Given the description of an element on the screen output the (x, y) to click on. 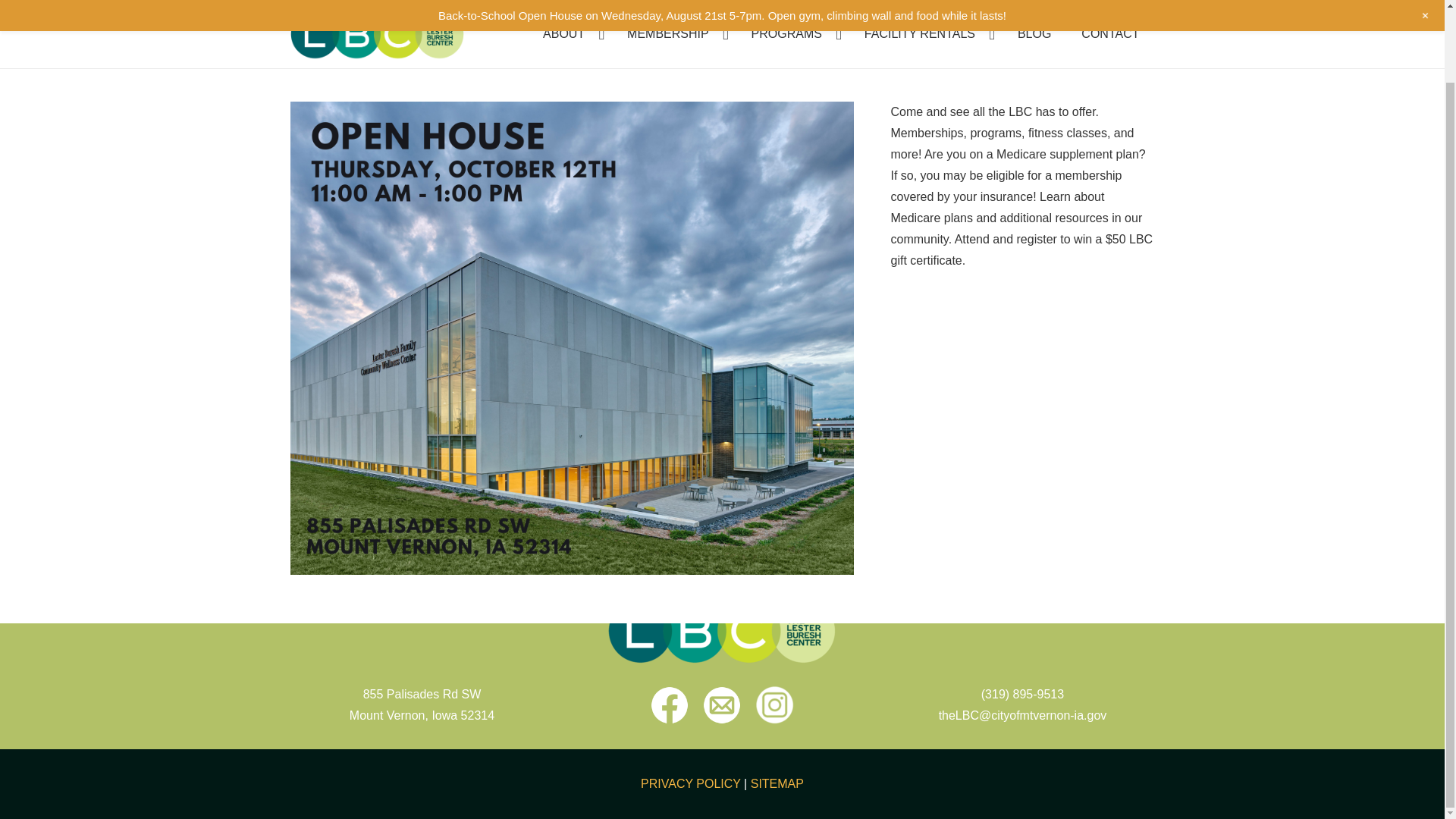
SITEMAP (777, 783)
PRIVACY POLICY (690, 783)
Home (931, 19)
Fall Open House (1108, 19)
Uncategorized (1004, 19)
